Given the description of an element on the screen output the (x, y) to click on. 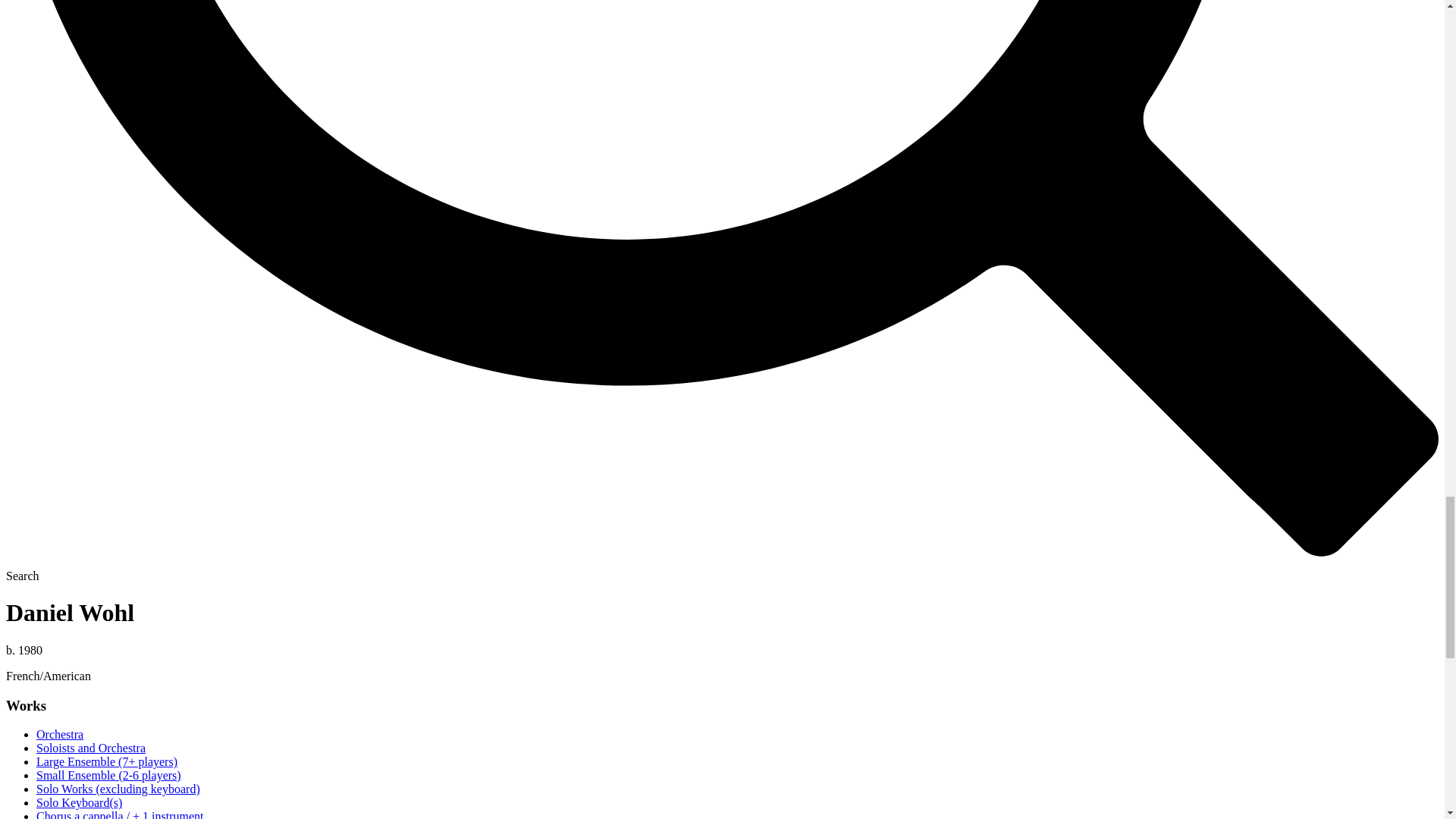
Soloists and Orchestra (90, 748)
Orchestra (59, 734)
